Given the description of an element on the screen output the (x, y) to click on. 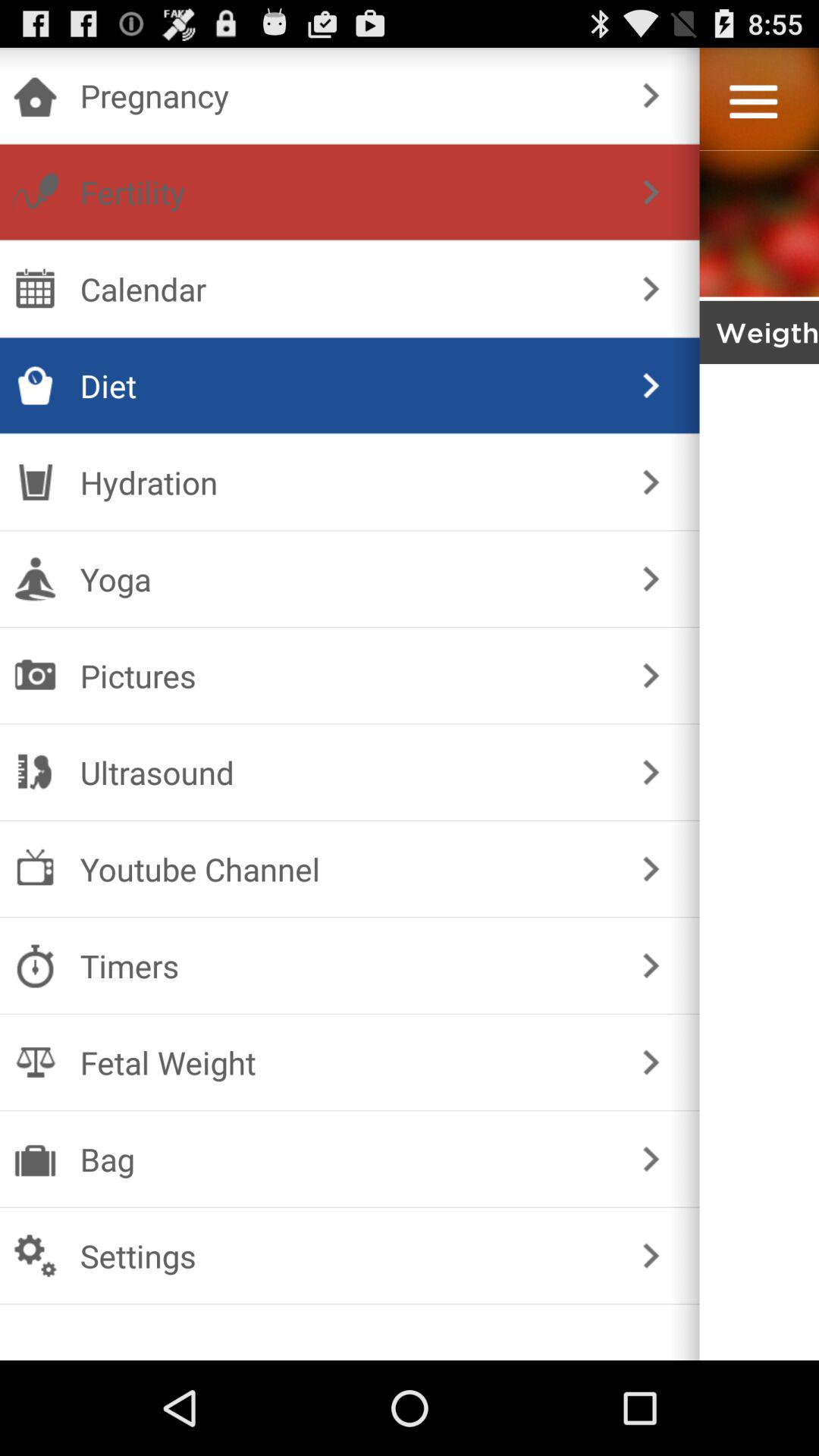
press checkbox above the youtube channel (346, 771)
